Given the description of an element on the screen output the (x, y) to click on. 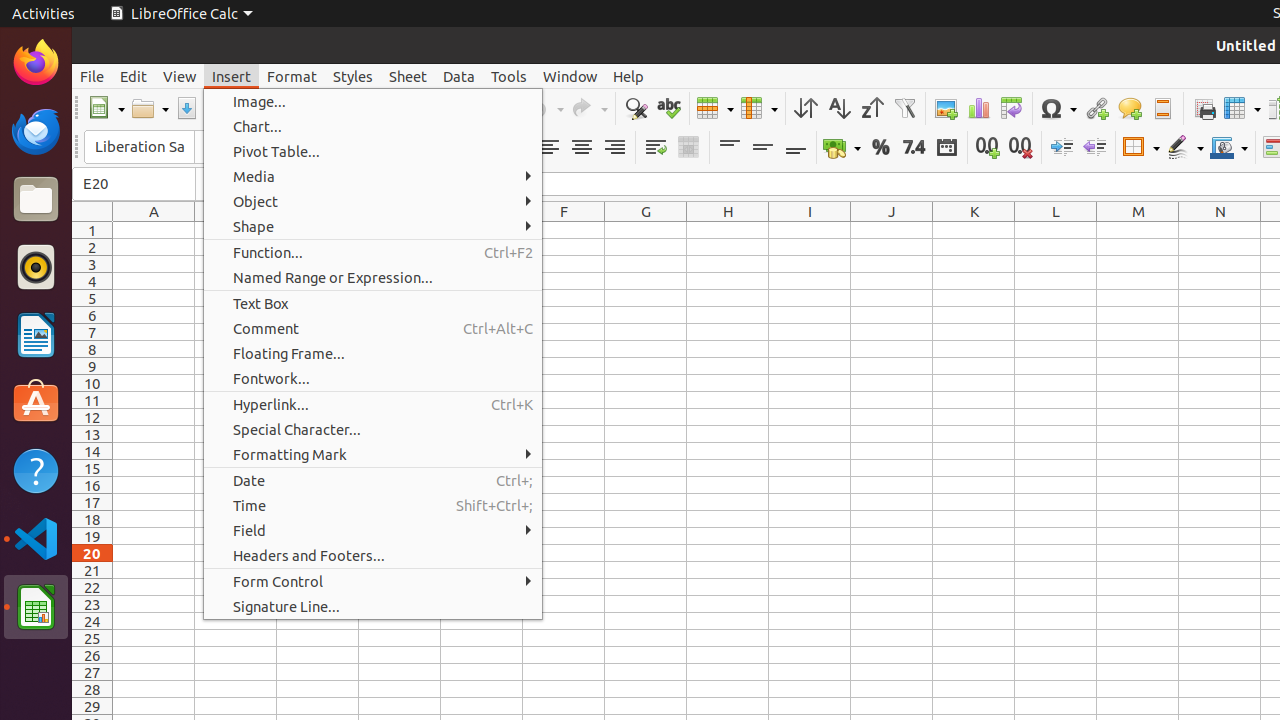
Visual Studio Code Element type: push-button (36, 538)
Delete Decimal Place Element type: push-button (1020, 147)
Sort Element type: push-button (805, 108)
Files Element type: push-button (36, 199)
Rhythmbox Element type: push-button (36, 267)
